Given the description of an element on the screen output the (x, y) to click on. 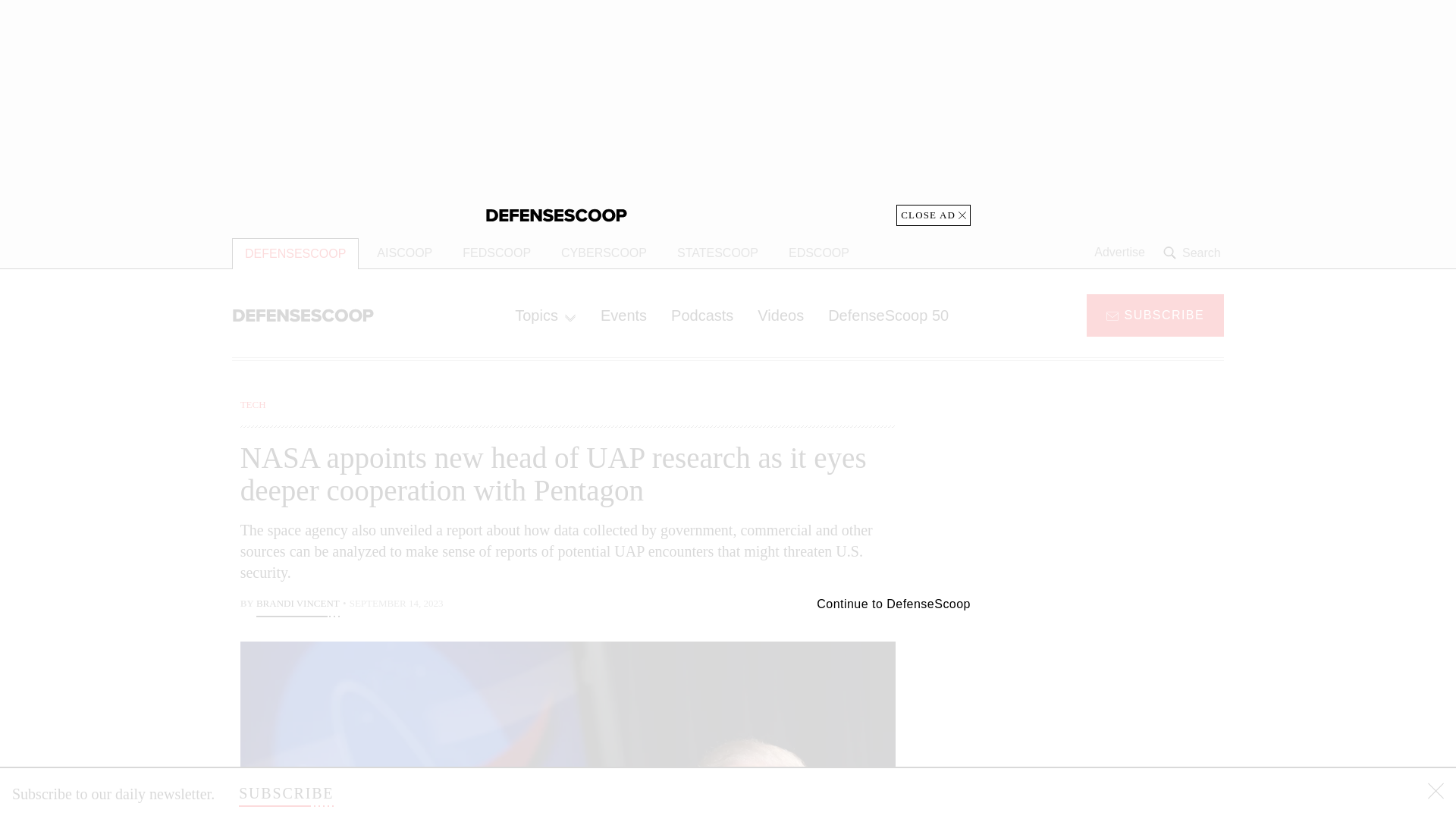
CYBERSCOOP (603, 253)
Events (623, 315)
AISCOOP (404, 253)
Search (1193, 252)
DEFENSESCOOP (294, 253)
Podcasts (702, 315)
EDSCOOP (818, 253)
Brandi Vincent (297, 604)
BRANDI VINCENT (297, 604)
TECH (253, 404)
FEDSCOOP (496, 253)
Videos (780, 315)
SUBSCRIBE (285, 793)
